Given the description of an element on the screen output the (x, y) to click on. 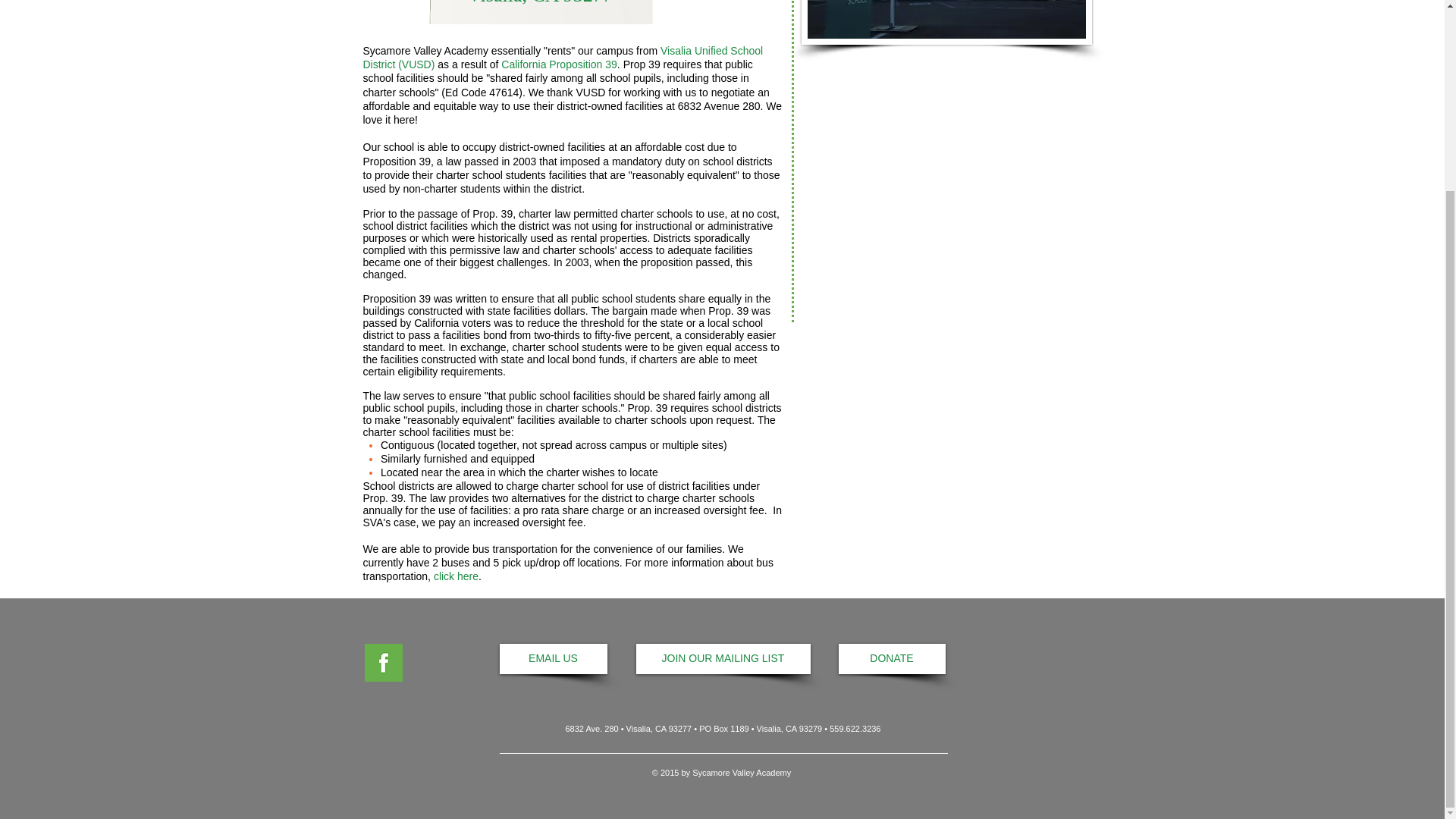
Icon-Facebook.png (382, 662)
Google Maps (945, 172)
JOIN OUR MAILING LIST (721, 658)
WhiteSticky.png (540, 12)
EMAIL US (553, 658)
click here (456, 576)
